Given the description of an element on the screen output the (x, y) to click on. 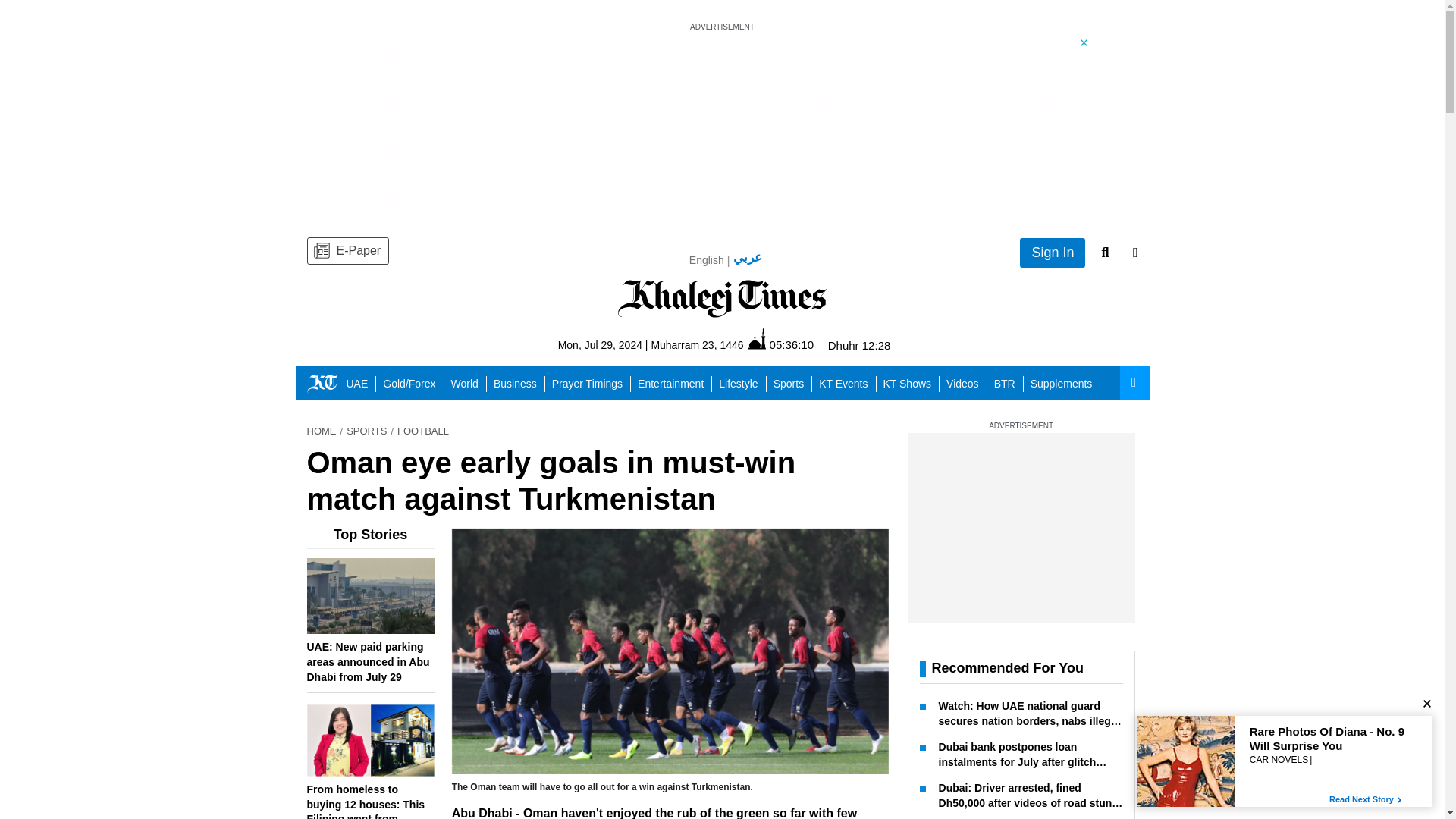
E-Paper (346, 250)
Sign In (1052, 252)
05:36:10 (780, 344)
Dhuhr 12:28 (859, 345)
